Given the description of an element on the screen output the (x, y) to click on. 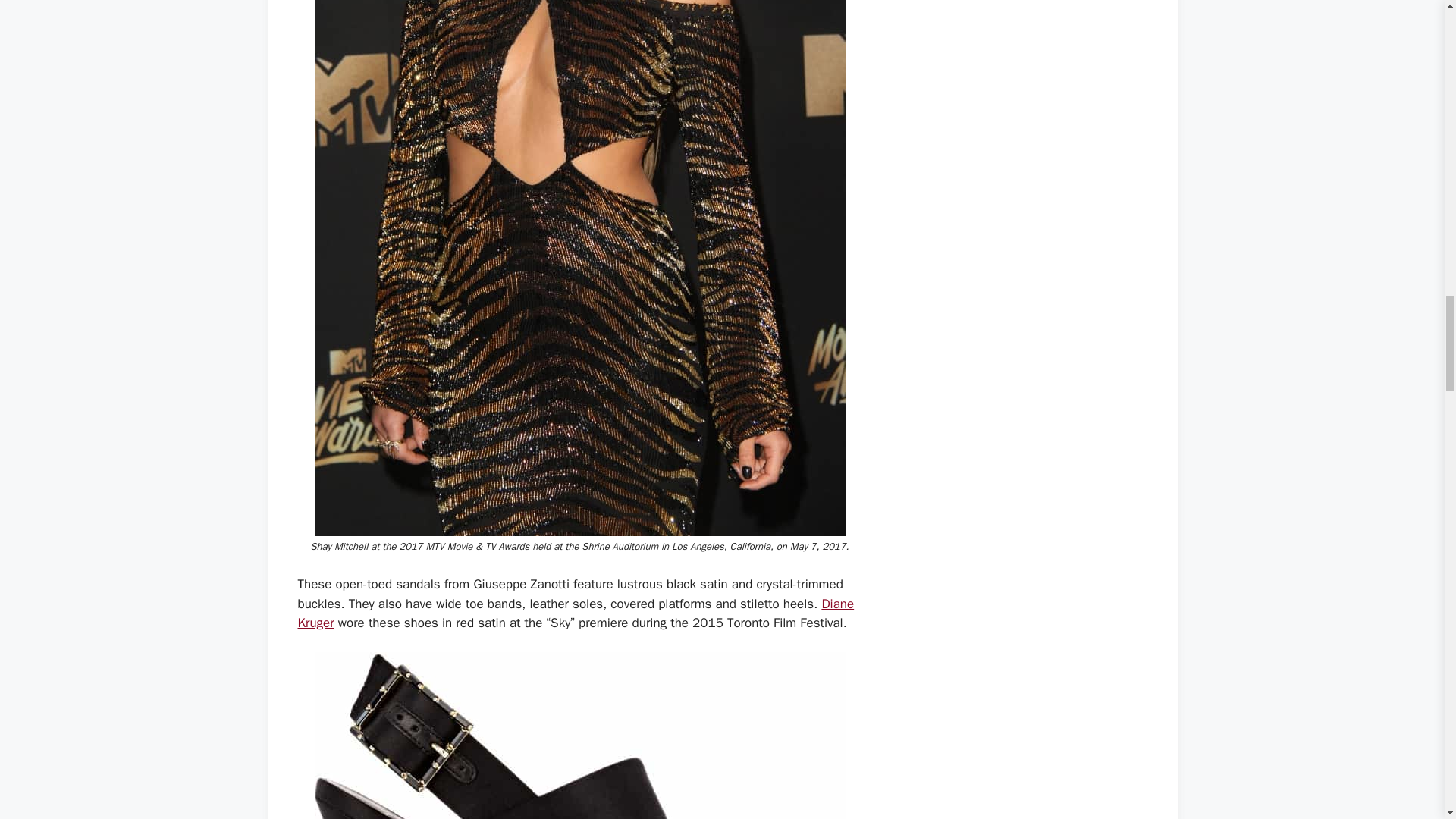
Diane Kruger (575, 613)
